Given the description of an element on the screen output the (x, y) to click on. 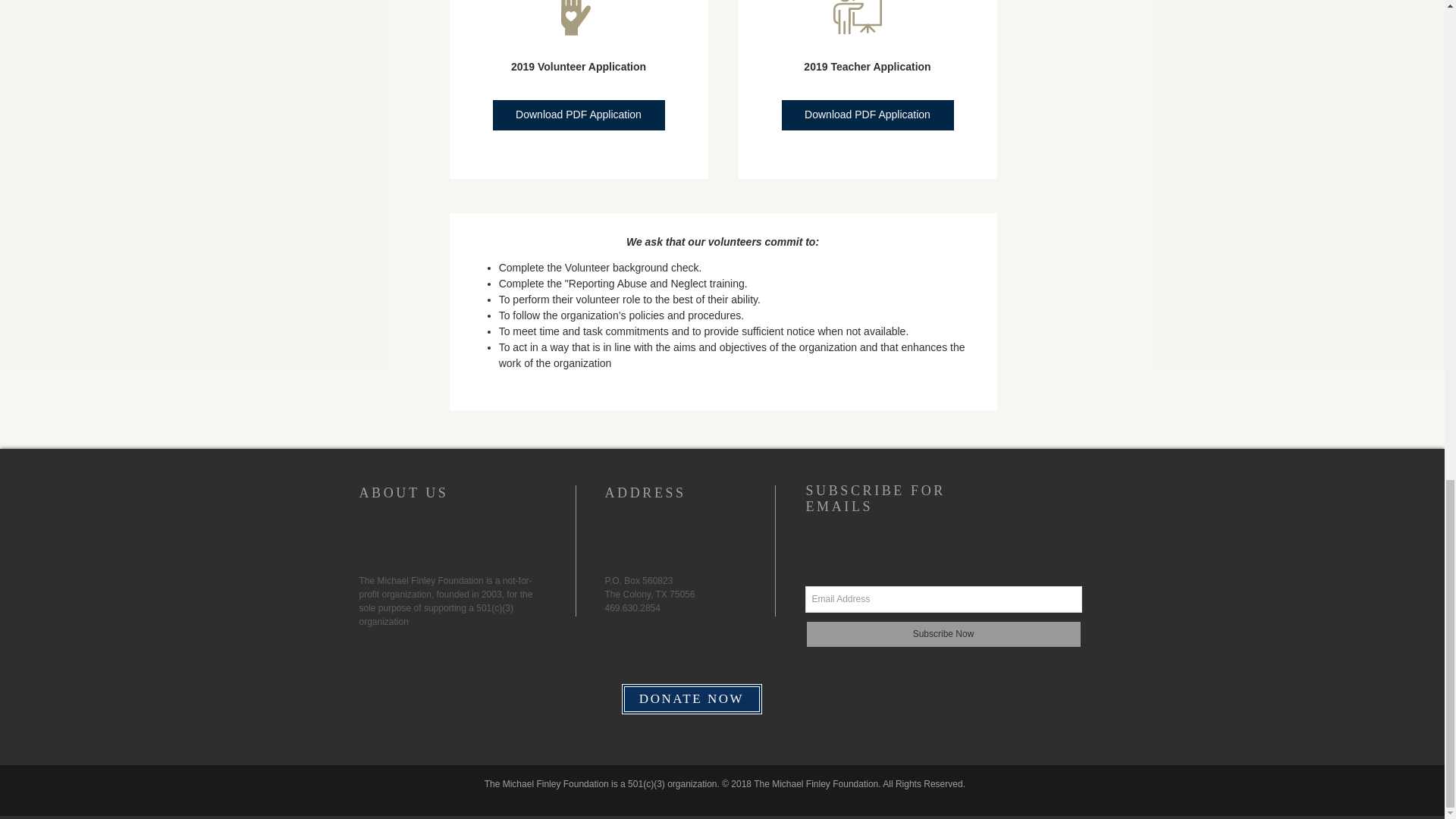
Subscribe Now (943, 633)
DONATE NOW (691, 698)
Download PDF Application (579, 114)
Download PDF Application (866, 114)
